Given the description of an element on the screen output the (x, y) to click on. 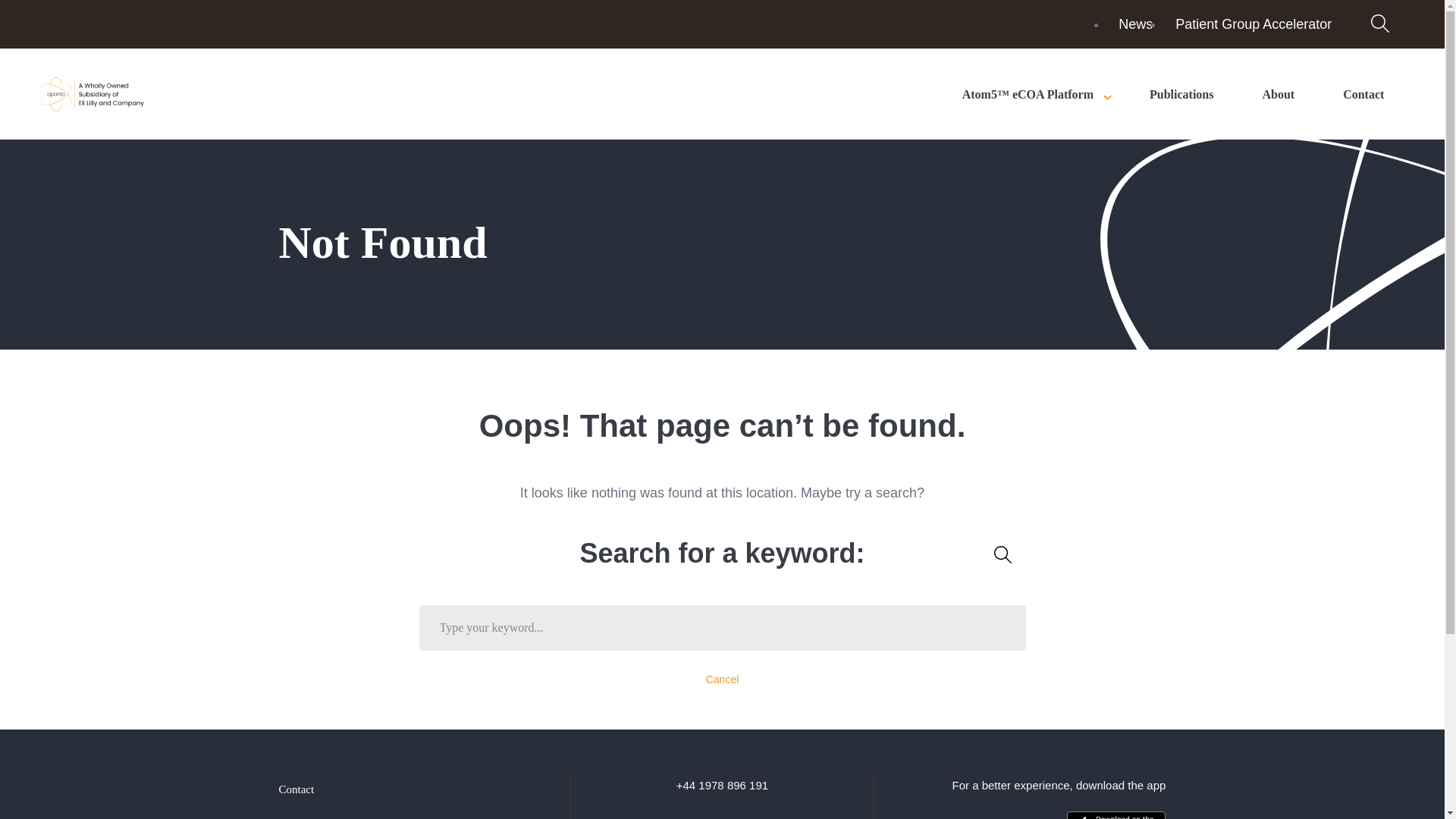
Contact (296, 788)
Cancel (722, 679)
Patient Group Accelerator (1253, 23)
News (1135, 23)
SEARCH (1002, 554)
Aparito (92, 92)
Search (1002, 554)
Support (297, 816)
Search for: (722, 627)
